Given the description of an element on the screen output the (x, y) to click on. 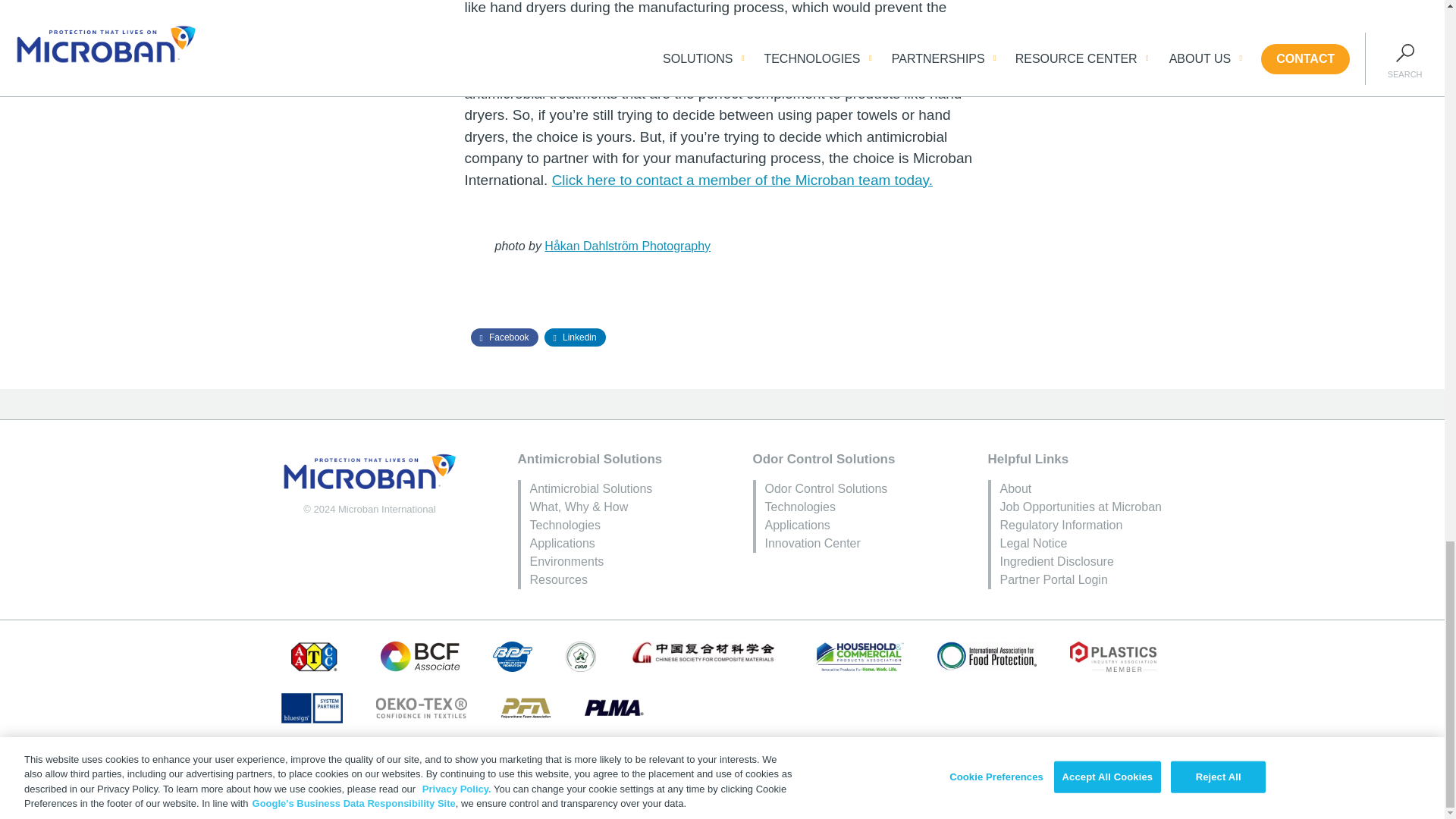
bluesign System Partner badge logo (311, 707)
Householdcommercial footer logo (858, 656)
IAFP logo footer logo (986, 656)
PFA logo footer logo (525, 707)
OEKO-TEX: Confidence in Textiles logo logo (420, 707)
Chinese Society for Composite Materials logo (704, 652)
BCF Associate logo logo (420, 656)
BPF: Member of the British Plastics Federation logo (512, 656)
CIA Alogo footer logo (580, 656)
PLMA footer logo (614, 707)
aatcc logo - red yellow blue and white logo (314, 656)
Plastics Industry Association Member logo (1113, 656)
Microban (369, 471)
